Given the description of an element on the screen output the (x, y) to click on. 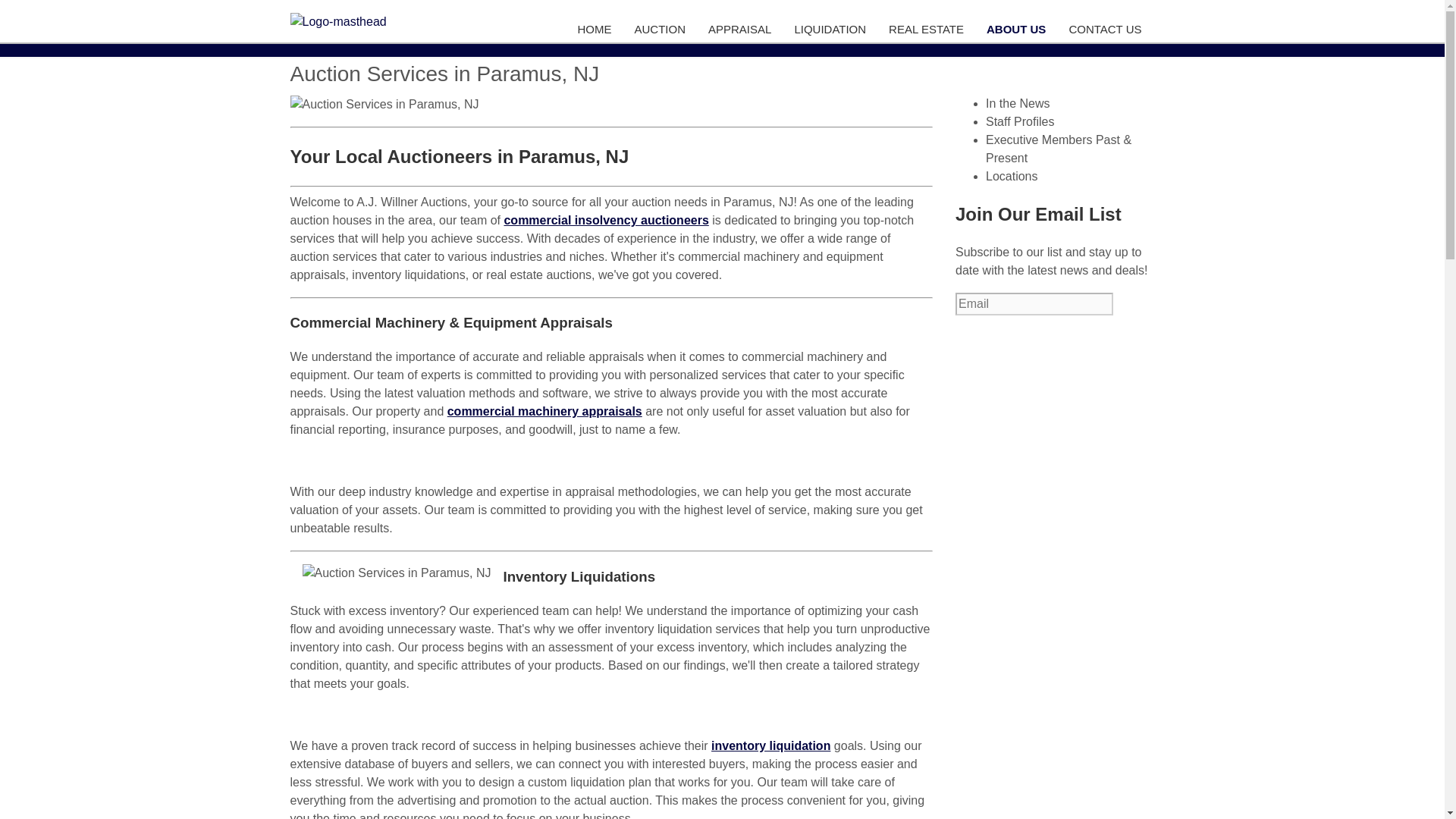
Staff Profiles (1019, 121)
AUCTION (661, 29)
CONTACT US (1106, 29)
A.J. Willner Auctions (384, 22)
In the News (1017, 103)
APPRAISAL (741, 29)
REAL ESTATE (927, 29)
Liquidation (831, 29)
commercial insolvency auctioneers (605, 219)
Appraisal (741, 29)
